Given the description of an element on the screen output the (x, y) to click on. 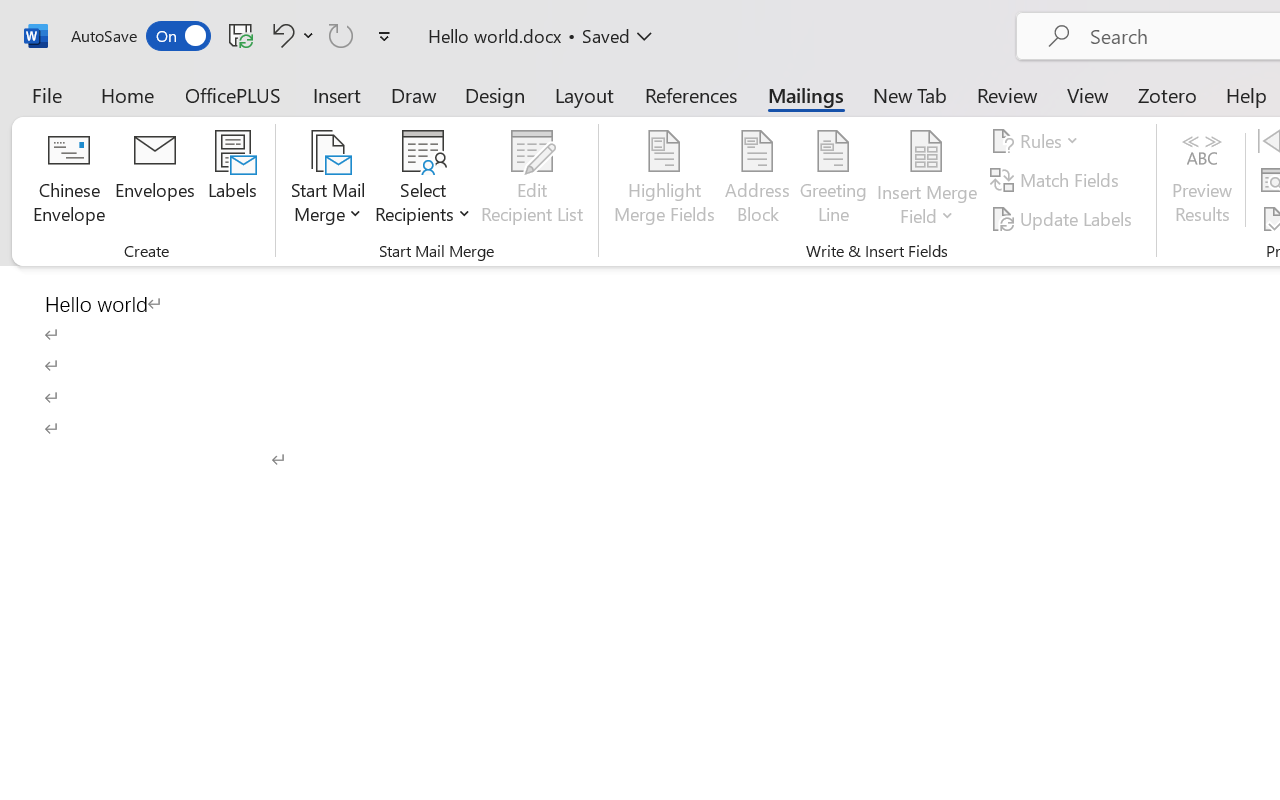
Rules (1037, 141)
Home (127, 94)
Review (1007, 94)
AutoSave (140, 35)
Insert (337, 94)
Layout (584, 94)
Insert Merge Field (927, 151)
Labels... (232, 179)
Undo Click and Type Formatting (280, 35)
Insert Merge Field (927, 179)
Customize Quick Access Toolbar (384, 35)
Update Labels (1064, 218)
Zotero (1166, 94)
Quick Access Toolbar (233, 36)
